Given the description of an element on the screen output the (x, y) to click on. 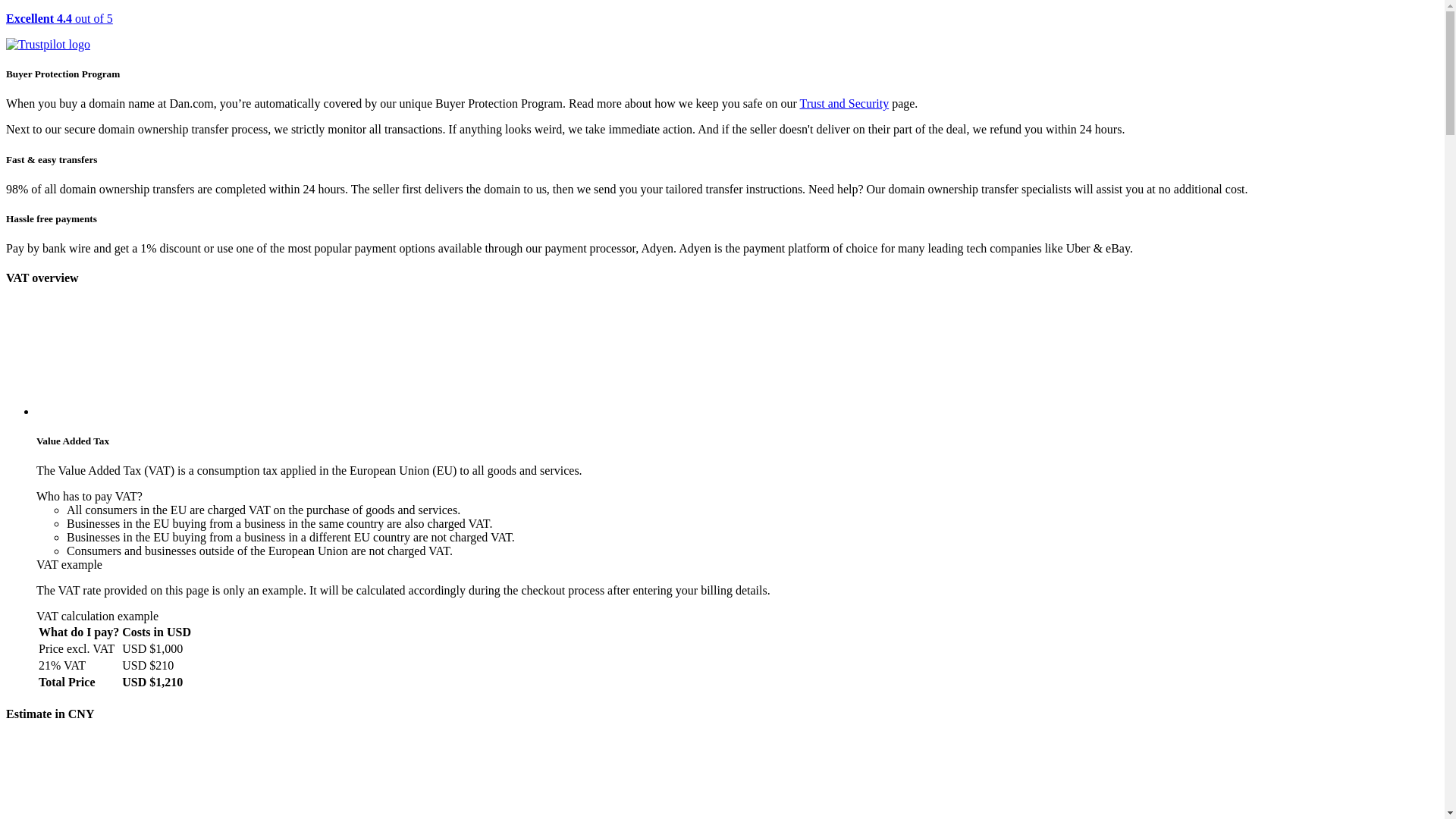
Trust and Security Element type: text (844, 103)
Excellent 4.4 out of 5 Element type: text (722, 31)
